Given the description of an element on the screen output the (x, y) to click on. 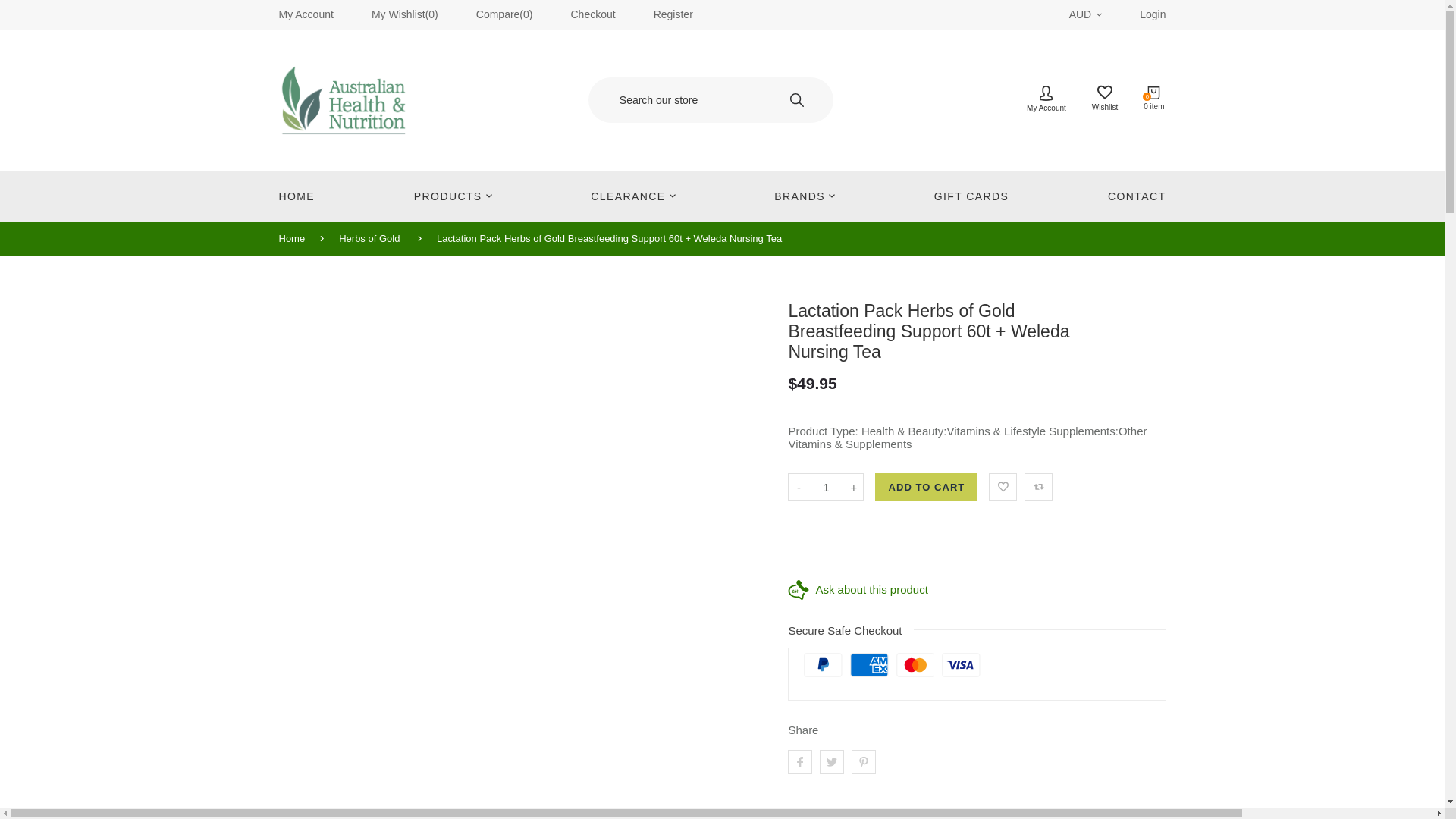
CLEARANCE (632, 195)
AUD (1085, 14)
Login (1153, 14)
BRANDS (804, 195)
Pin on Pinterest (863, 761)
Register (672, 14)
Add to Wishlist (1002, 487)
HOME (304, 195)
PRODUCTS (452, 195)
Checkout (592, 14)
Add to Compare (1038, 487)
Home (299, 238)
Tweet on Twitter (831, 761)
1 (825, 487)
Share on Facebook (799, 761)
